Given the description of an element on the screen output the (x, y) to click on. 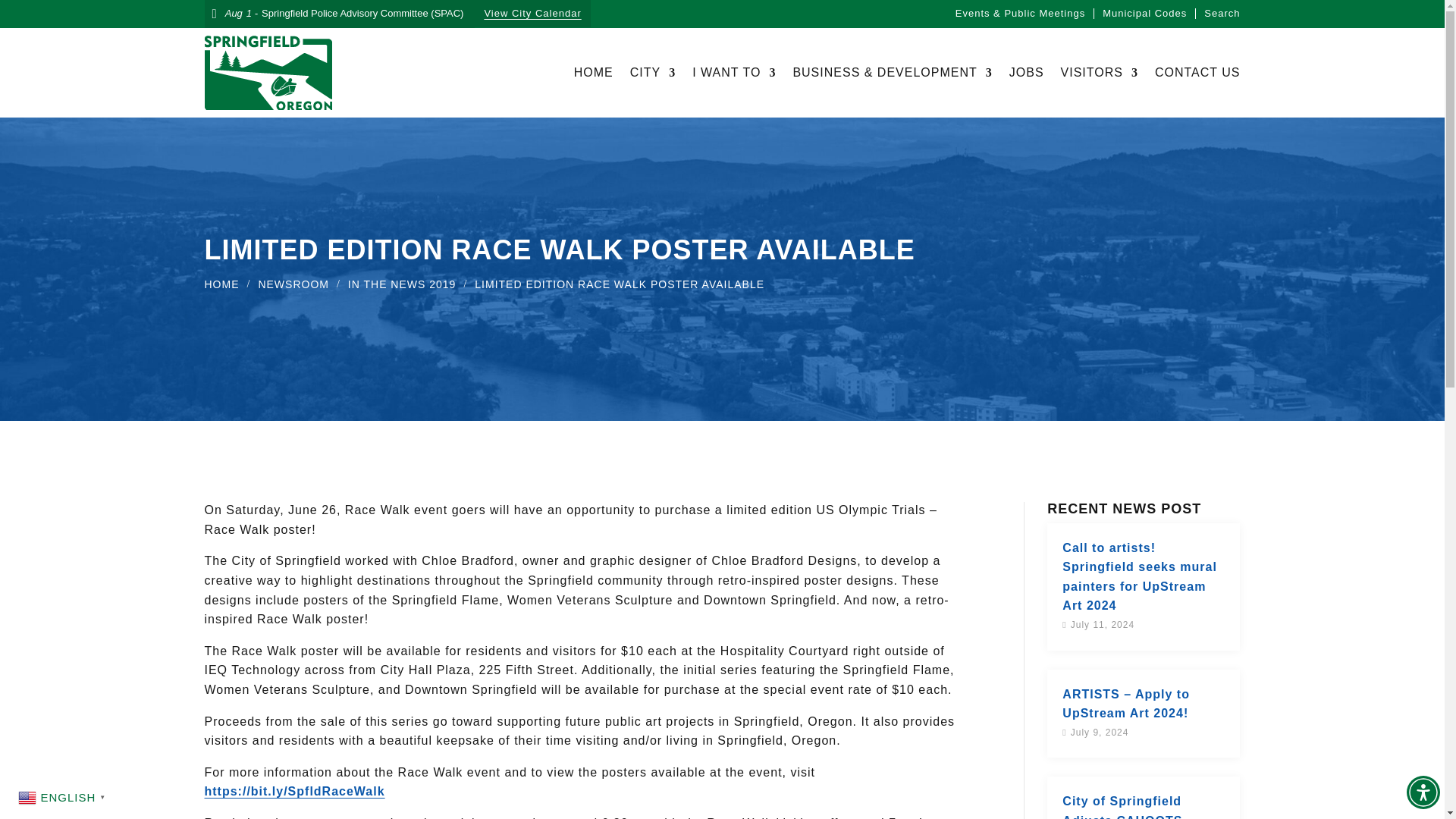
Search (1222, 13)
Municipal Codes (1144, 13)
Accessibility Menu (1422, 792)
View City Calendar (531, 13)
